Given the description of an element on the screen output the (x, y) to click on. 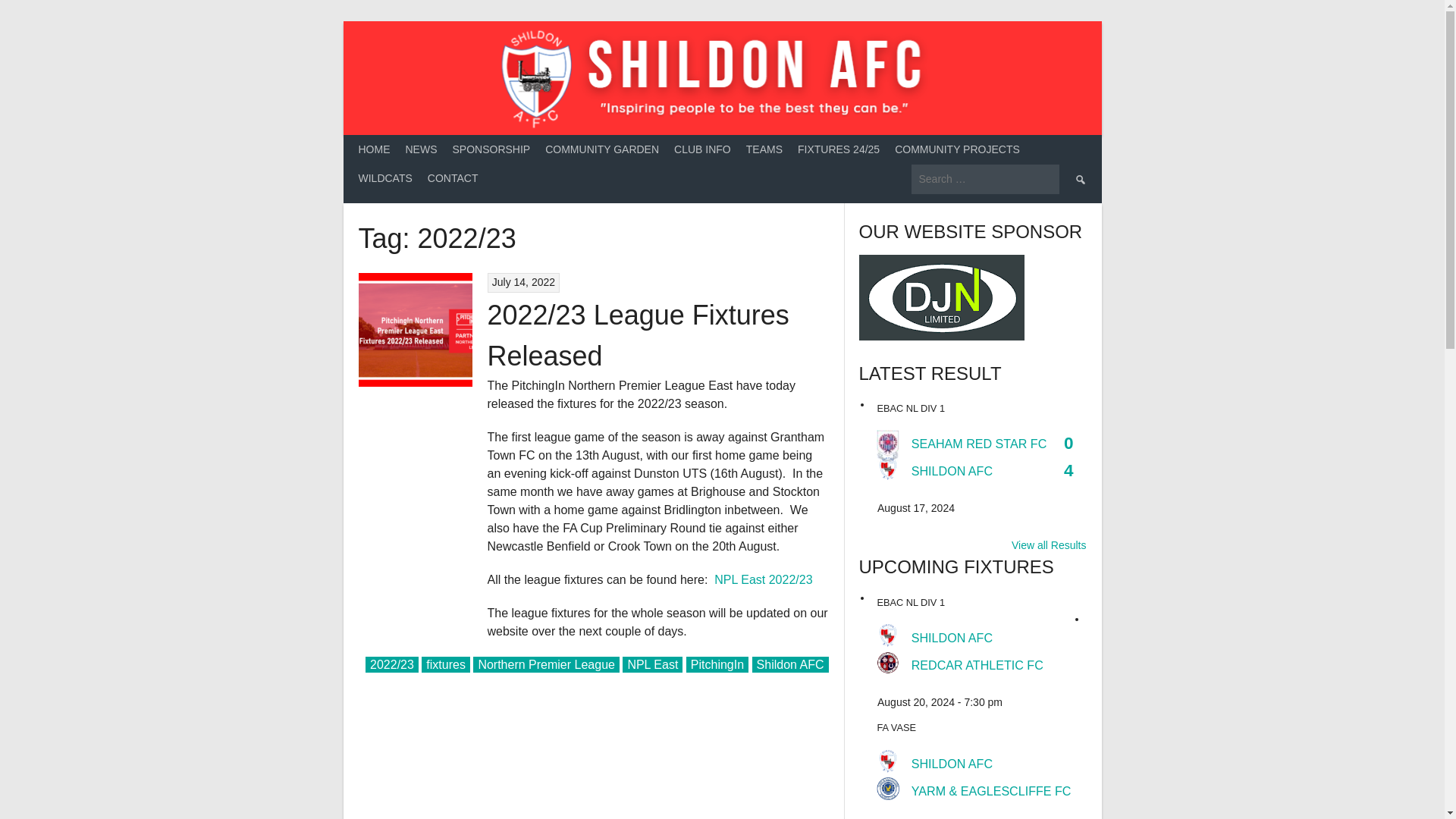
Shildon AFC (790, 664)
NPL East (652, 664)
CONTACT (453, 178)
TEAMS (764, 149)
HOME (373, 149)
NEWS (420, 149)
COMMUNITY PROJECTS (956, 149)
July 14, 2022 (523, 282)
View all Results (1048, 545)
Search (1079, 178)
